Given the description of an element on the screen output the (x, y) to click on. 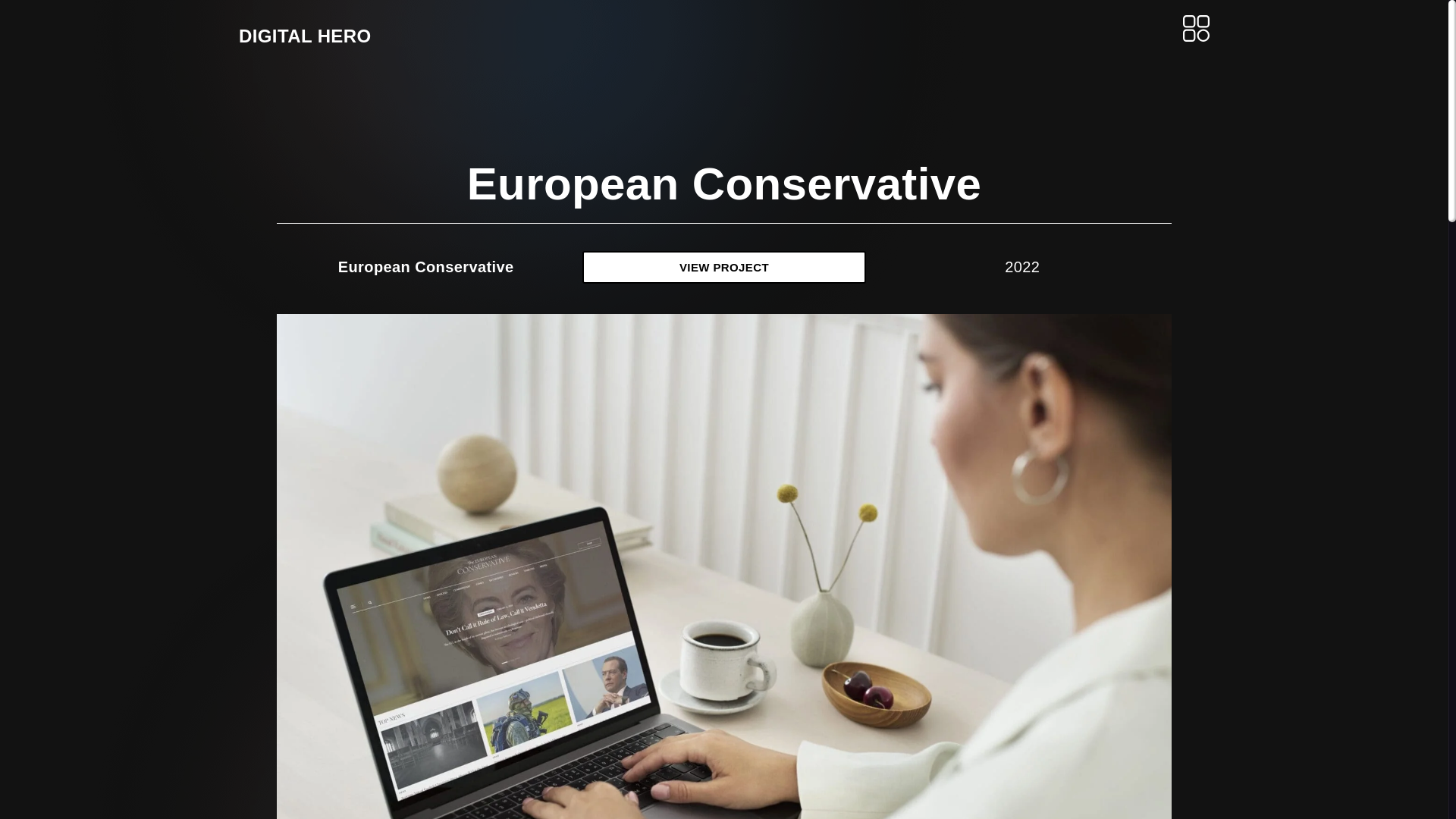
DIGITAL HERO (304, 35)
VIEW PROJECT (723, 266)
